Given the description of an element on the screen output the (x, y) to click on. 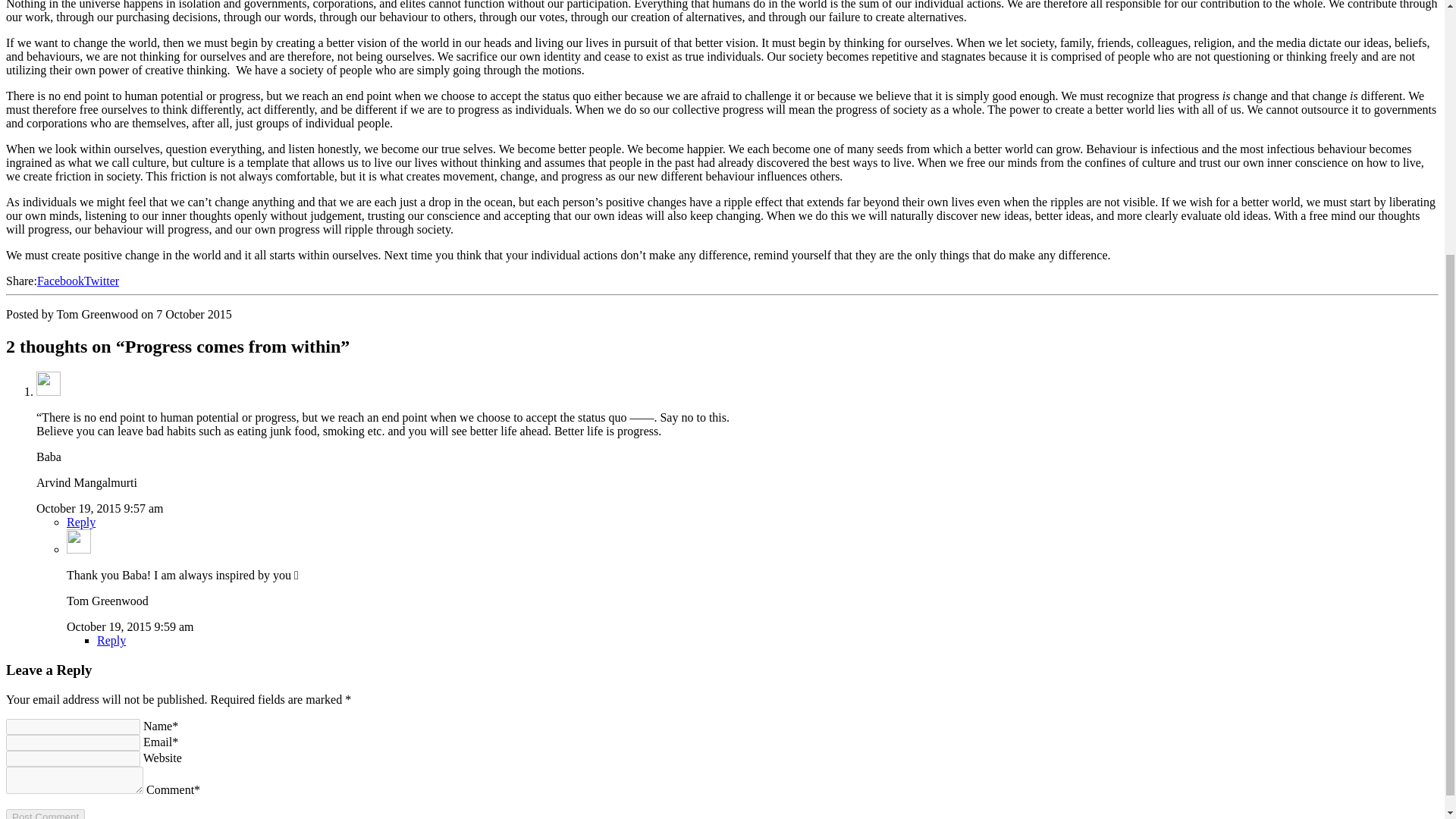
Share on Facebook (60, 280)
This field is required! (73, 779)
This field is required! (72, 742)
This field is required! (72, 726)
Twitter (101, 280)
Reply (111, 640)
Reply (81, 521)
Facebook (60, 280)
